Given the description of an element on the screen output the (x, y) to click on. 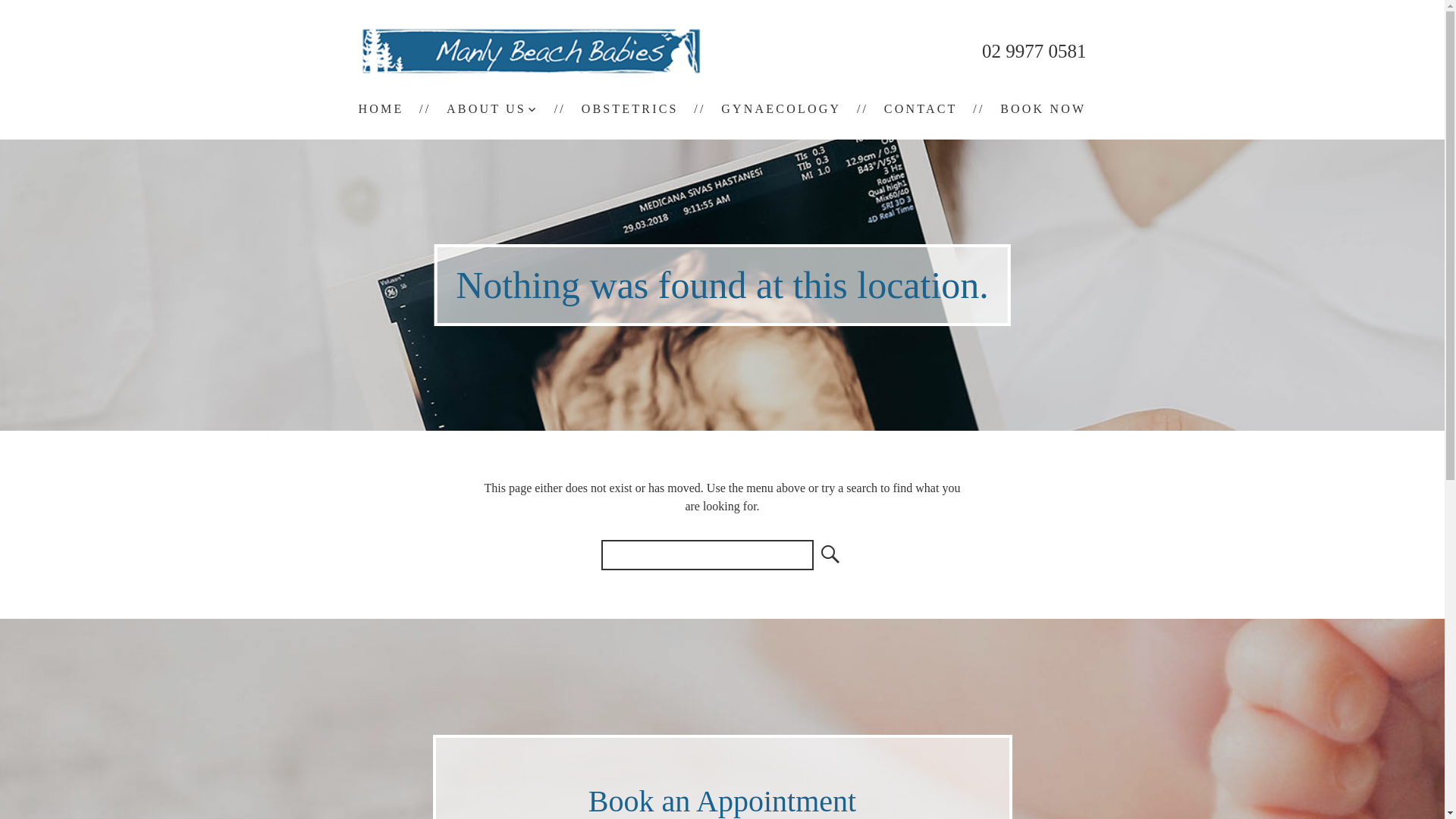
OBSTETRICS Element type: text (629, 109)
Search Element type: hover (827, 554)
HOME Element type: text (380, 109)
BOOK NOW Element type: text (1042, 109)
GYNAECOLOGY Element type: text (780, 109)
ABOUT US Element type: text (492, 109)
CONTACT Element type: text (920, 109)
02 9977 0581 Element type: text (1034, 50)
